Given the description of an element on the screen output the (x, y) to click on. 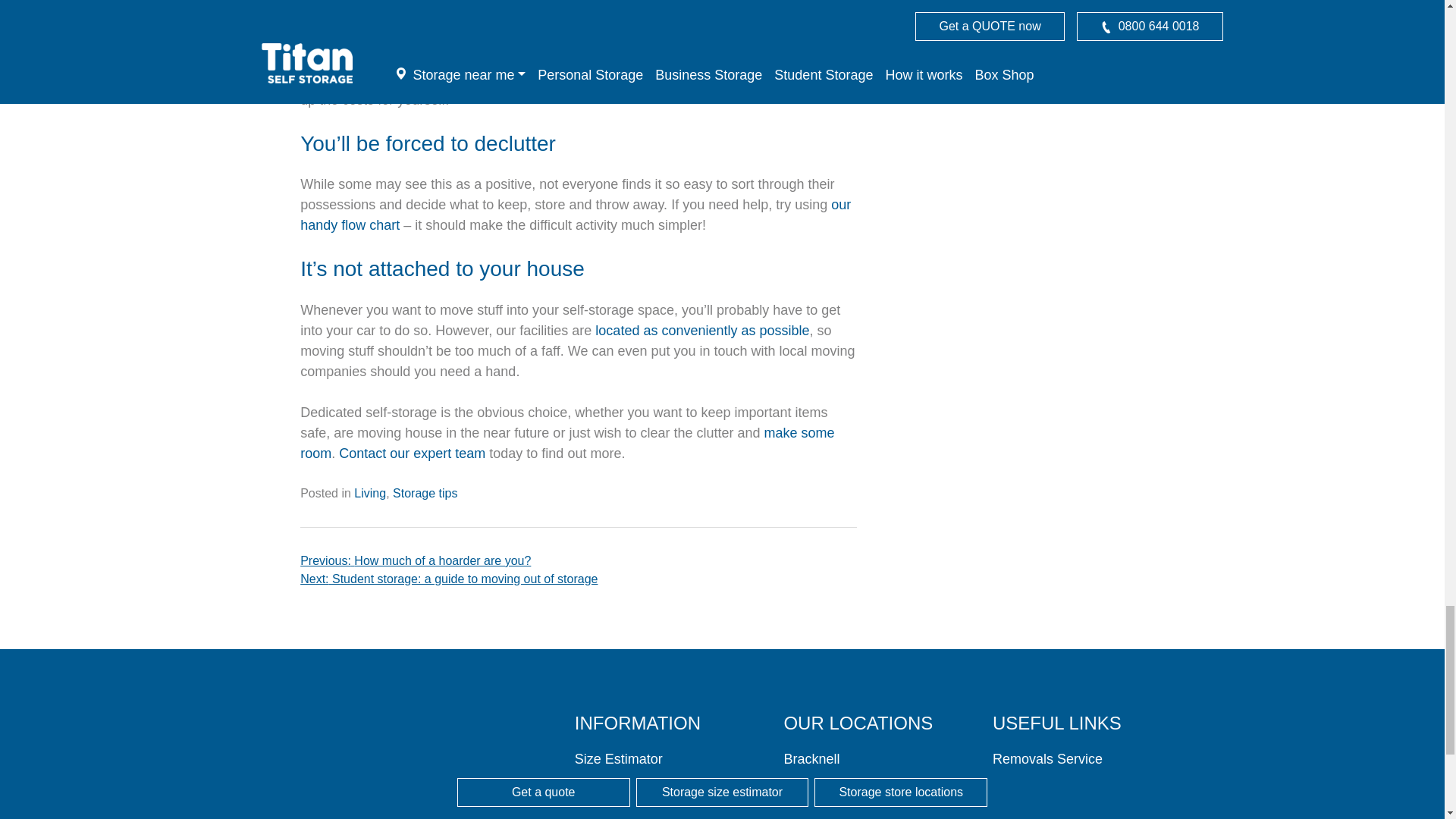
Storage tips (425, 492)
Previous: How much of a hoarder are you? (578, 561)
Contact our expert team (411, 453)
Living (369, 492)
make some room (566, 443)
our handy flow chart (574, 214)
located as conveniently as possible (702, 330)
Customer reviews powered by Trustpilot (362, 764)
Next: Student storage: a guide to moving out of storage (578, 579)
Get a quote today (719, 79)
